Given the description of an element on the screen output the (x, y) to click on. 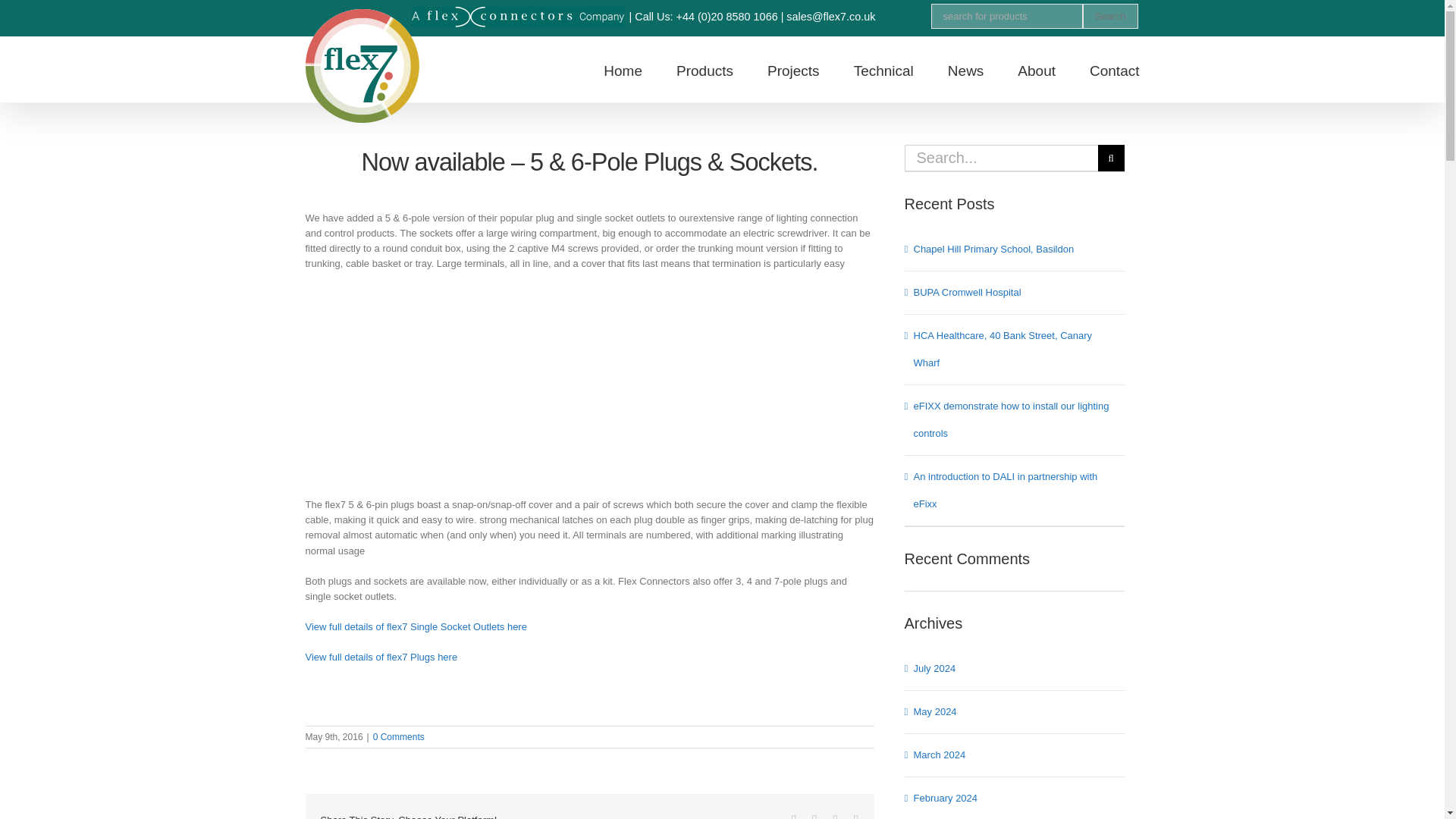
Black Plug and Socket (736, 392)
View full details of flex7 Single Socket Outlets here (414, 626)
BUPA Cromwell Hospital (966, 292)
Search (1110, 16)
0 Comments (398, 737)
Technical (883, 69)
eFIXX demonstrate how to install our lighting controls (1010, 419)
View full details of flex7 Plugs here (380, 656)
HCA Healthcare, 40 Bank Street, Canary Wharf (1002, 349)
Chapel Hill Primary School, Basildon (993, 248)
